Given the description of an element on the screen output the (x, y) to click on. 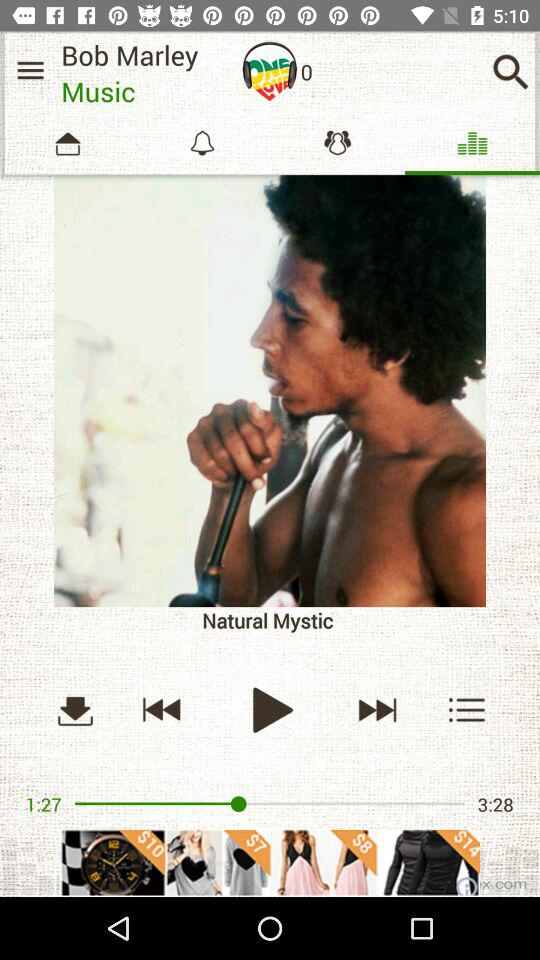
menu button (30, 69)
